Given the description of an element on the screen output the (x, y) to click on. 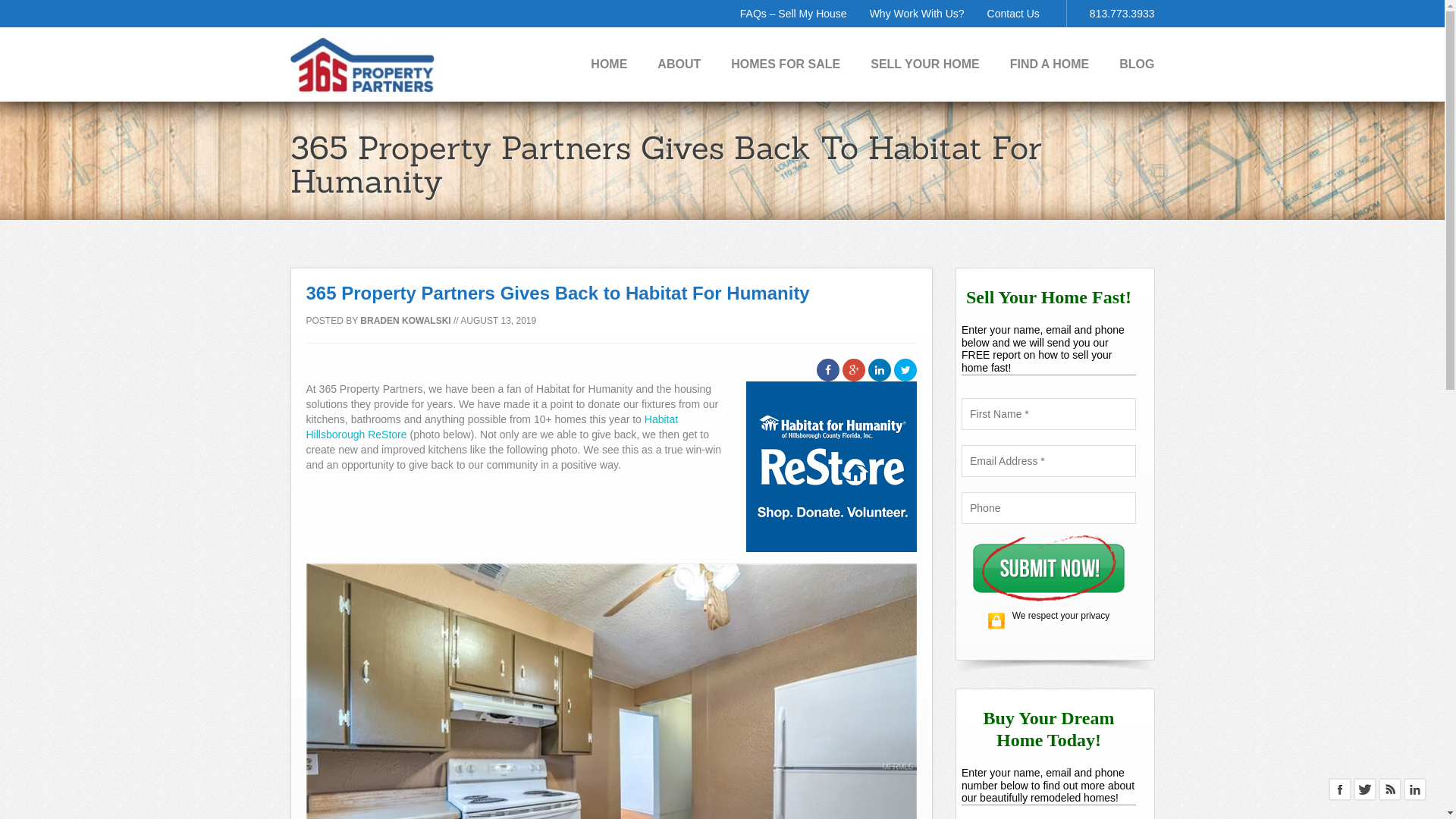
Visit Us On Twitter Element type: hover (1364, 788)
813.773.3933 Element type: text (1121, 13)
Contact Us Element type: text (1013, 13)
HOME Element type: text (608, 63)
Visit Us On Facebook Element type: hover (1339, 788)
SELL YOUR HOME Element type: text (924, 63)
Visit Us On Linkedin Element type: hover (1414, 788)
Check Our Feed Element type: hover (1389, 788)
BLOG Element type: text (1136, 63)
ABOUT Element type: text (678, 63)
HOMES FOR SALE Element type: text (785, 63)
Why Work With Us? Element type: text (916, 13)
FIND A HOME Element type: text (1049, 63)
Habitat Hillsborough ReStore Element type: text (492, 426)
